Given the description of an element on the screen output the (x, y) to click on. 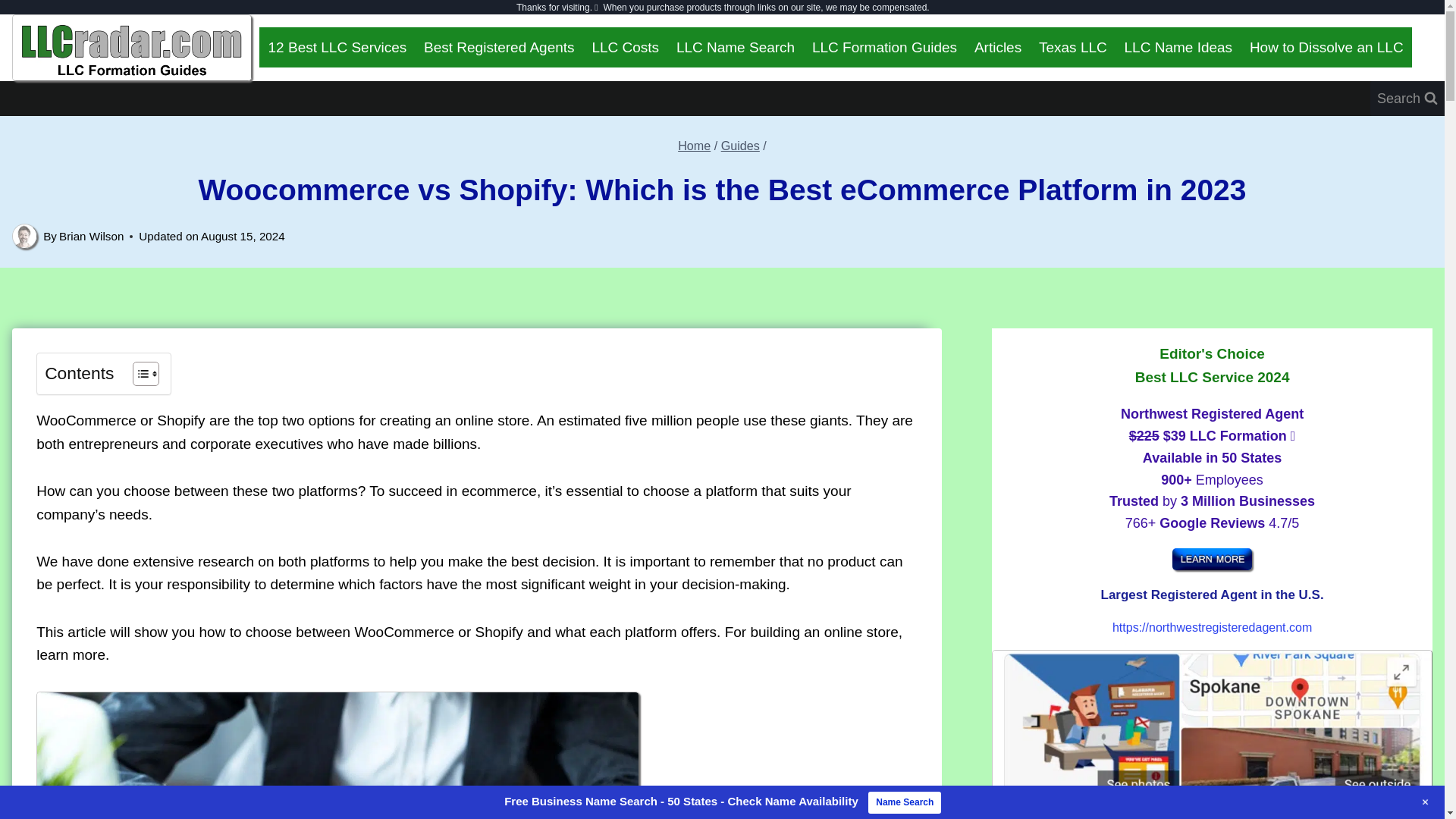
LLC Costs (624, 47)
Articles (998, 47)
LLC Formation Guides (884, 47)
How to Dissolve an LLC (1326, 47)
Best Registered Agents (498, 47)
12 Best LLC Services (336, 47)
Home (694, 145)
Texas LLC (1073, 47)
LLC Name Ideas (1177, 47)
Brian Wilson (91, 236)
